Given the description of an element on the screen output the (x, y) to click on. 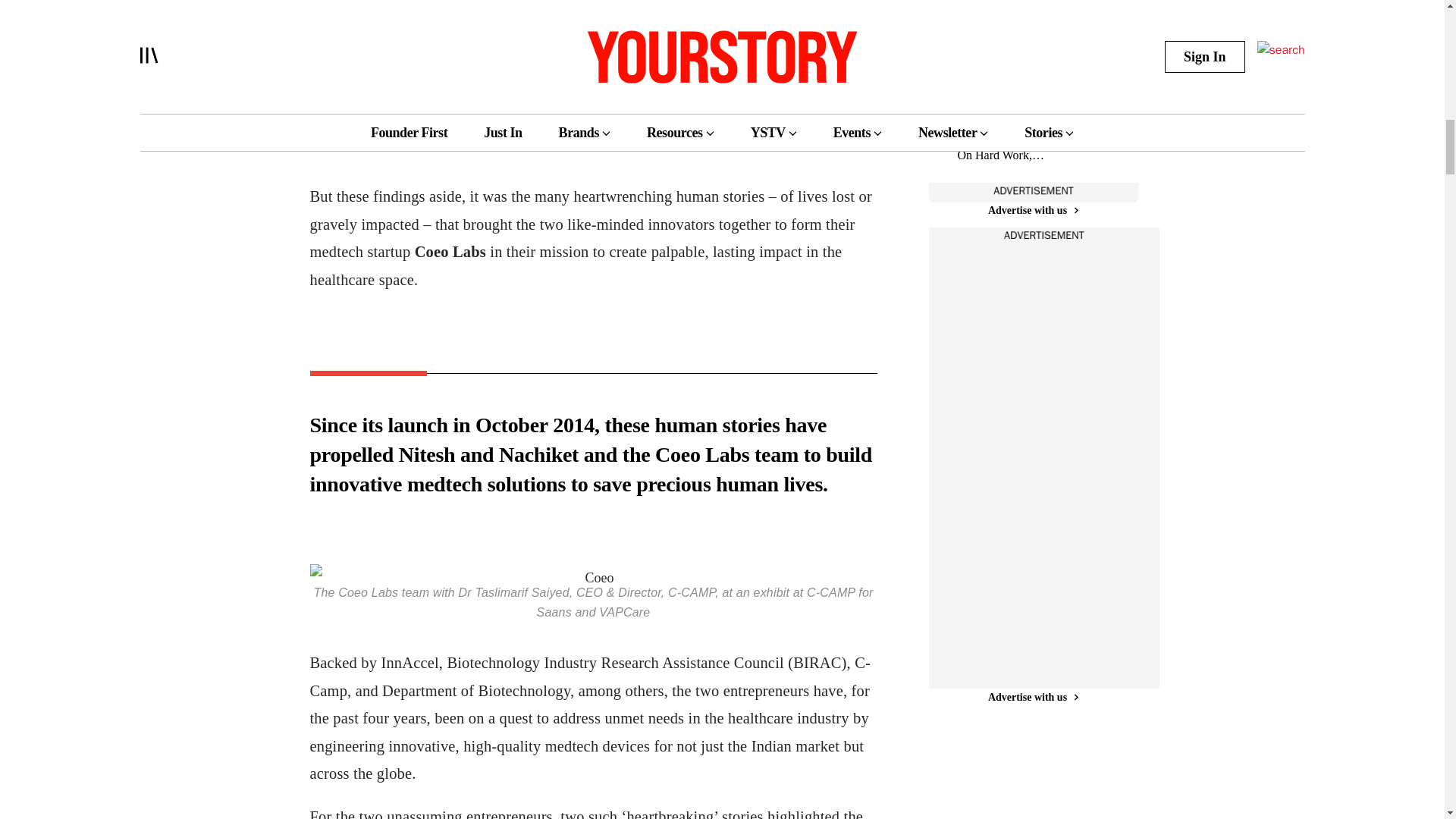
Kyron Global Accelerator Unveils Third Batch Of Startups (1013, 30)
Advertise with us (1032, 210)
Advertise with us (1032, 697)
QUOTES (976, 98)
